Given the description of an element on the screen output the (x, y) to click on. 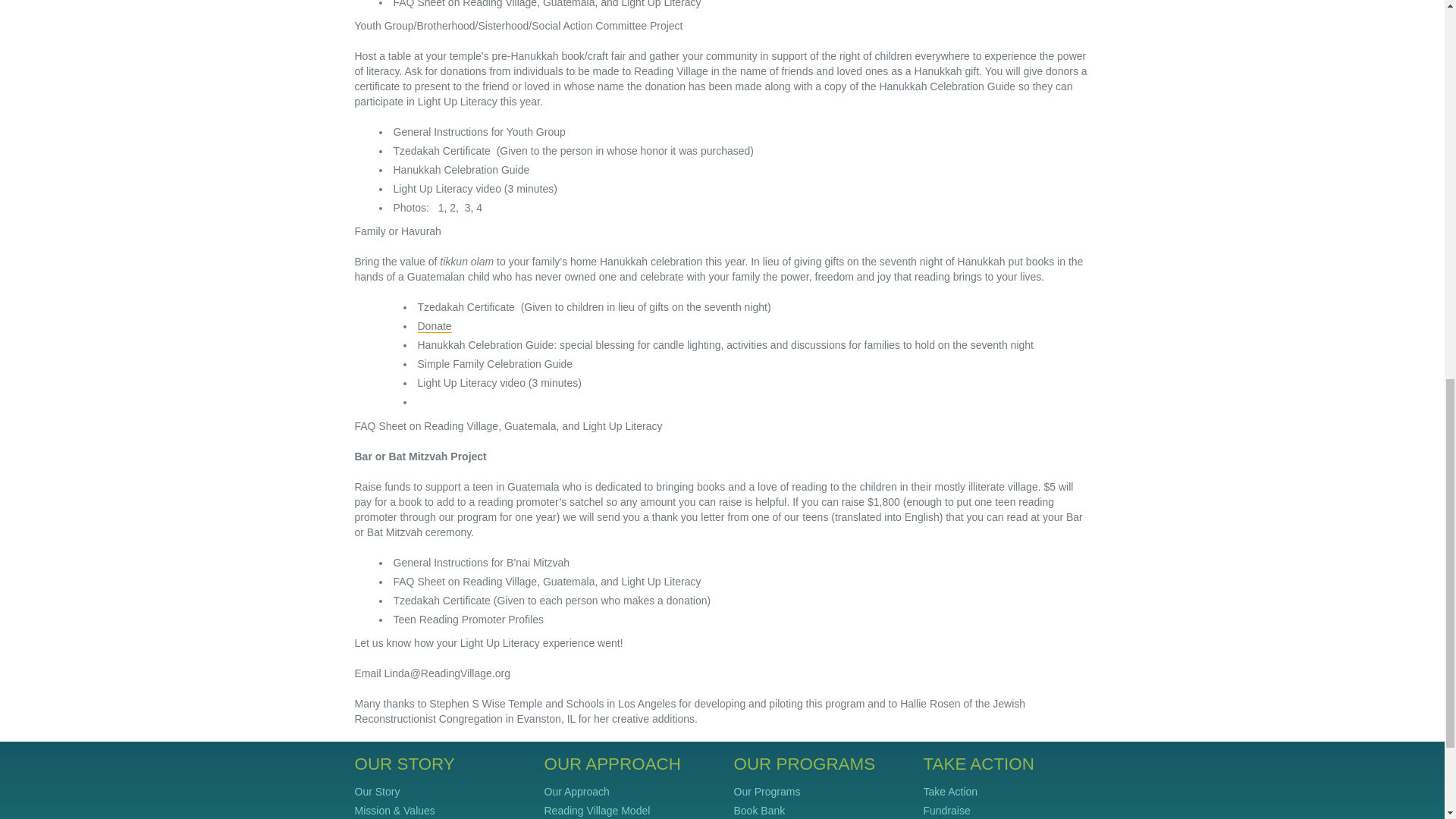
Take Action (950, 791)
Our Approach (577, 791)
Our Story (377, 791)
Reading Village Model (597, 810)
Our Programs (766, 791)
Fundraise (947, 810)
Book Bank (759, 810)
Donate (433, 326)
